Given the description of an element on the screen output the (x, y) to click on. 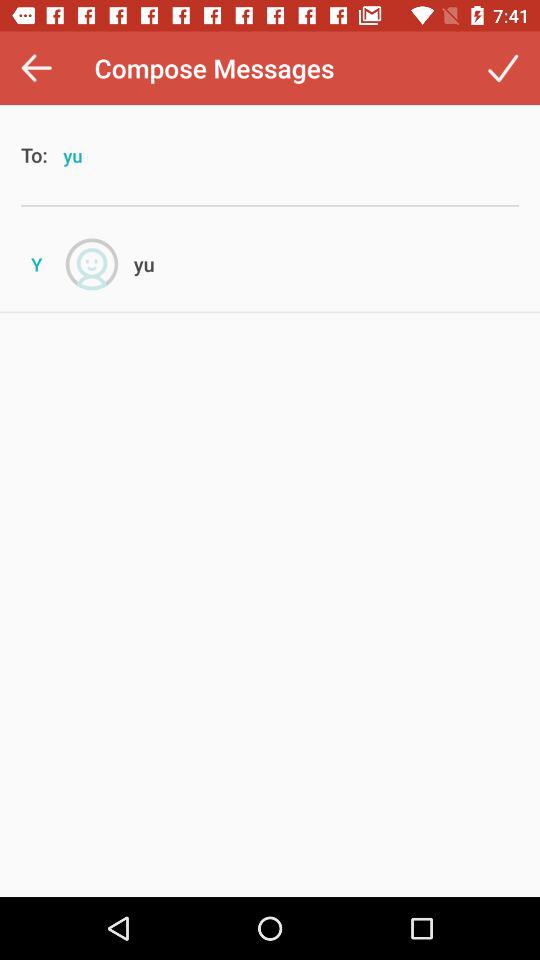
select the item to the right of compose messages icon (502, 67)
